Given the description of an element on the screen output the (x, y) to click on. 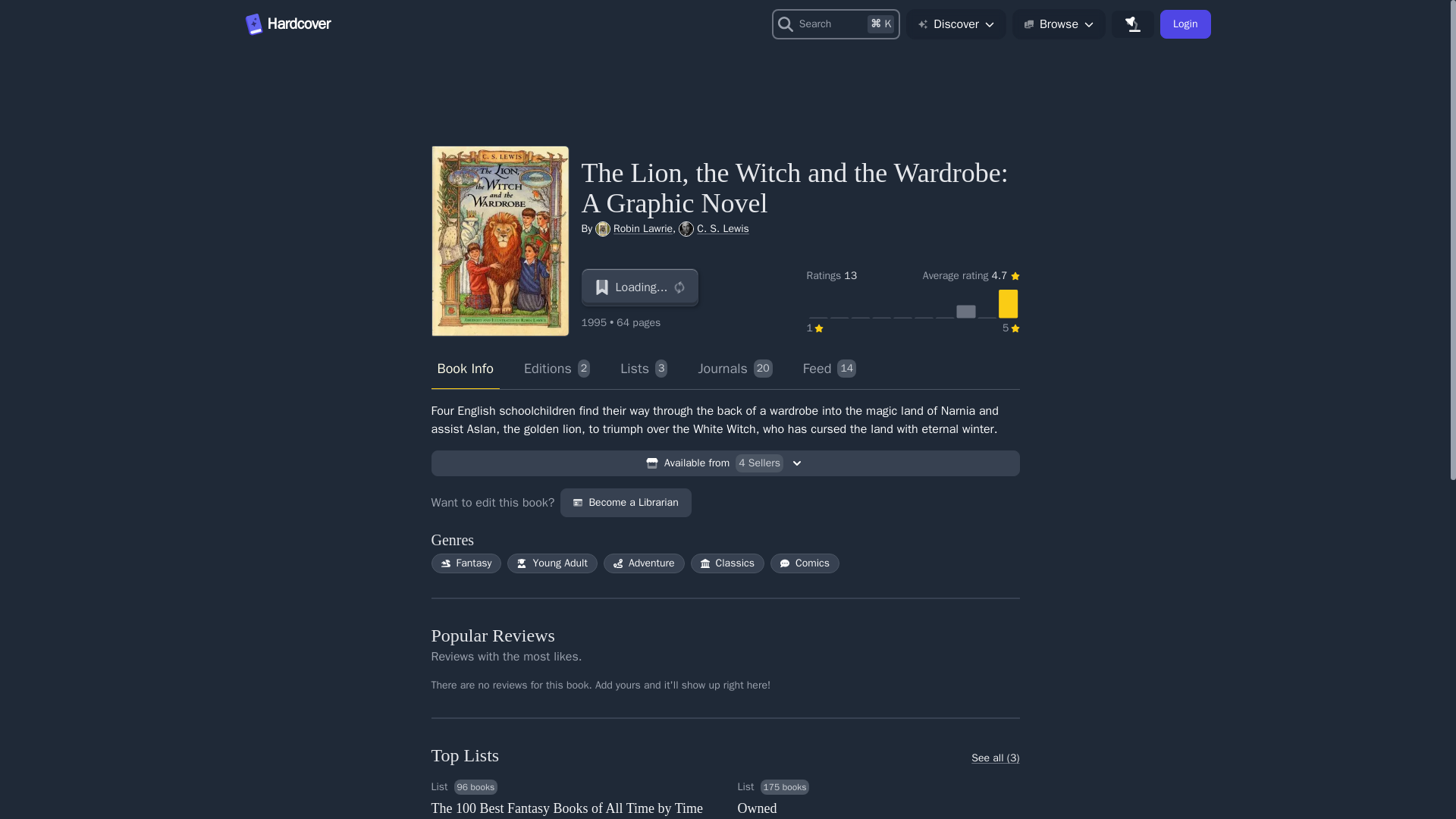
Loading... (639, 287)
C. S. Lewis (829, 368)
Hardcover (723, 228)
Young Adult (336, 23)
Classics (551, 563)
Robin Lawrie (734, 368)
Become a Librarian (726, 563)
Fantasy (642, 228)
Login (625, 502)
Book Info (466, 563)
Use setting (1184, 23)
Comics (464, 368)
